Given the description of an element on the screen output the (x, y) to click on. 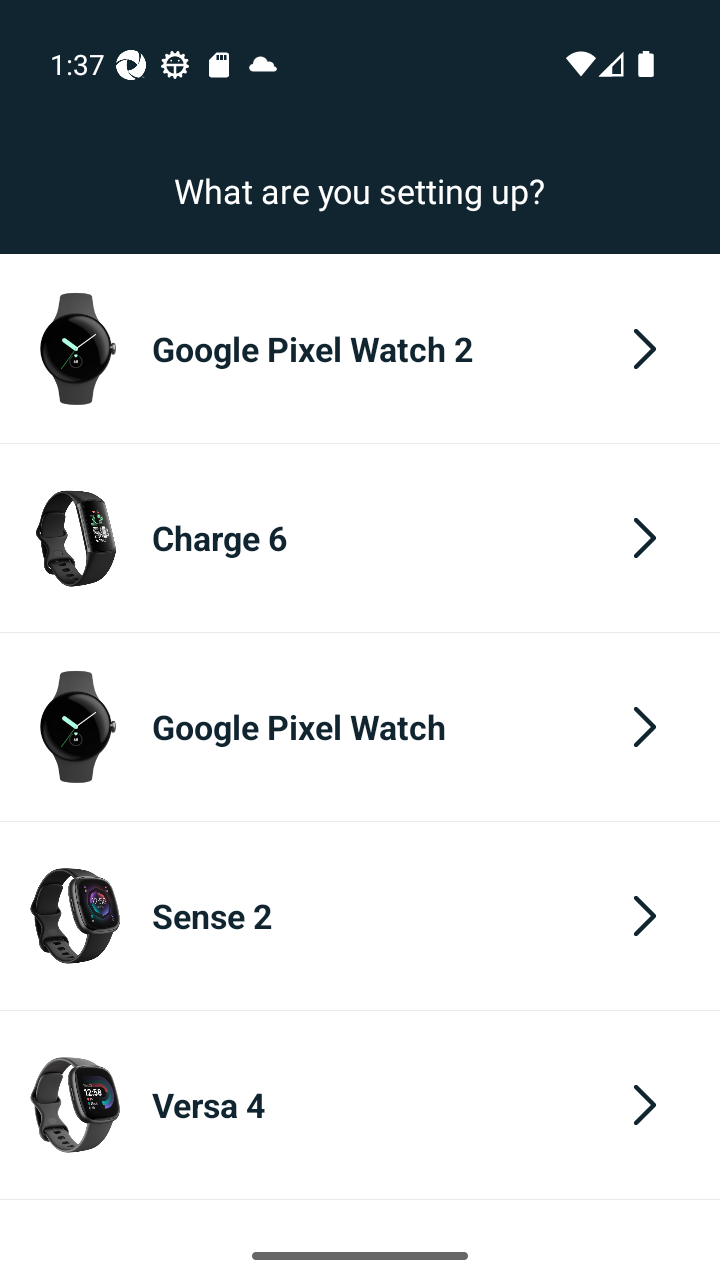
Google Pixel Watch 2 (360, 348)
Charge 6 (360, 538)
Google Pixel Watch (360, 726)
Sense 2 (360, 915)
Versa 4 (360, 1105)
